Given the description of an element on the screen output the (x, y) to click on. 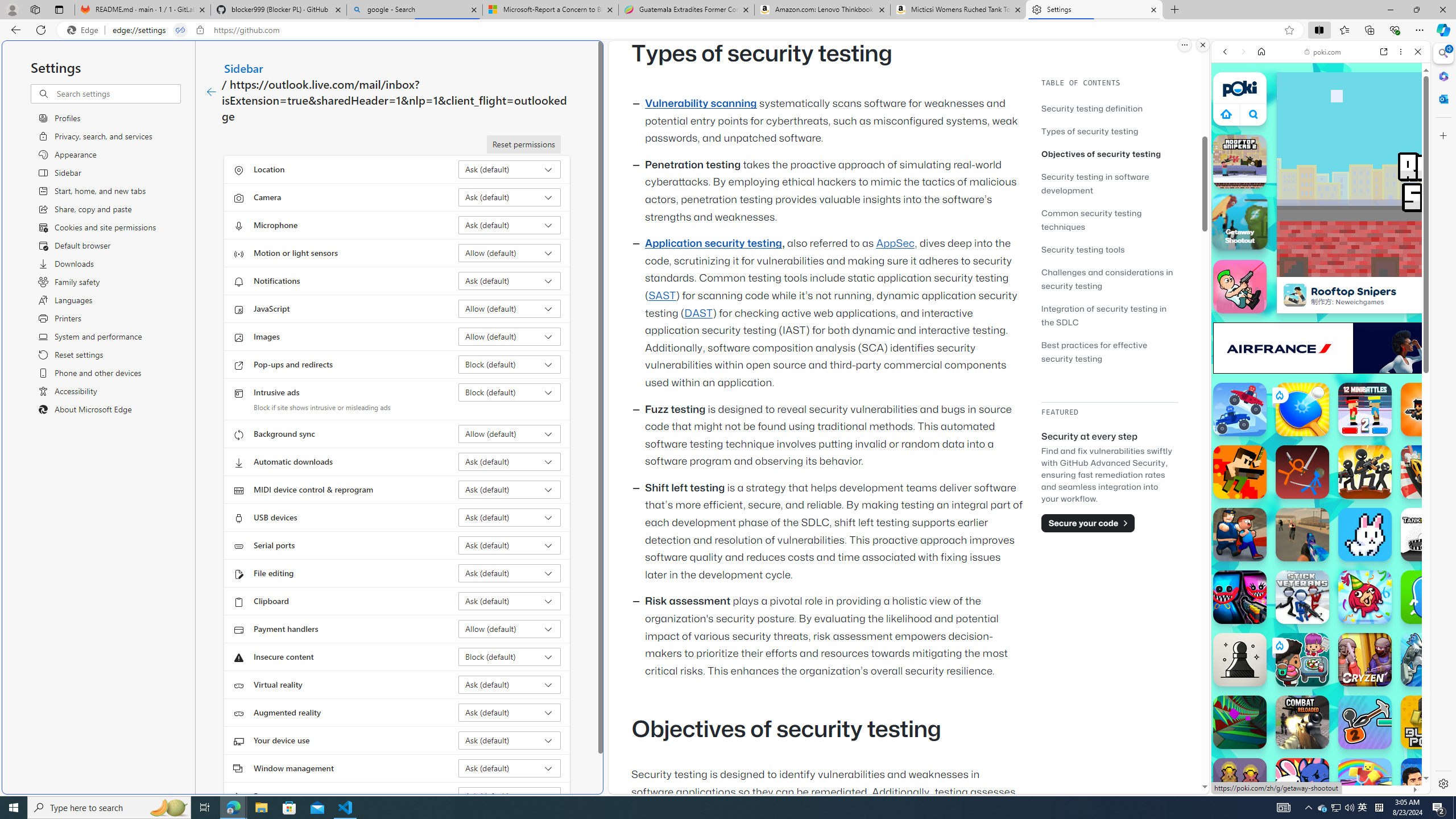
Hills of Steel Hills of Steel poki.com (1264, 548)
poki.com (1322, 51)
Stickman Climb 2 (1364, 722)
Virtual reality Ask (default) (509, 684)
Insecure content Block (default) (509, 656)
Blockpost Blockpost (1427, 722)
Stickman Climb 2 Stickman Climb 2 (1364, 722)
Shooting Games (1320, 295)
Hills of Steel (1253, 574)
Poor Bunny (1364, 534)
Huggy Wuggy Shooter (1239, 597)
